Given the description of an element on the screen output the (x, y) to click on. 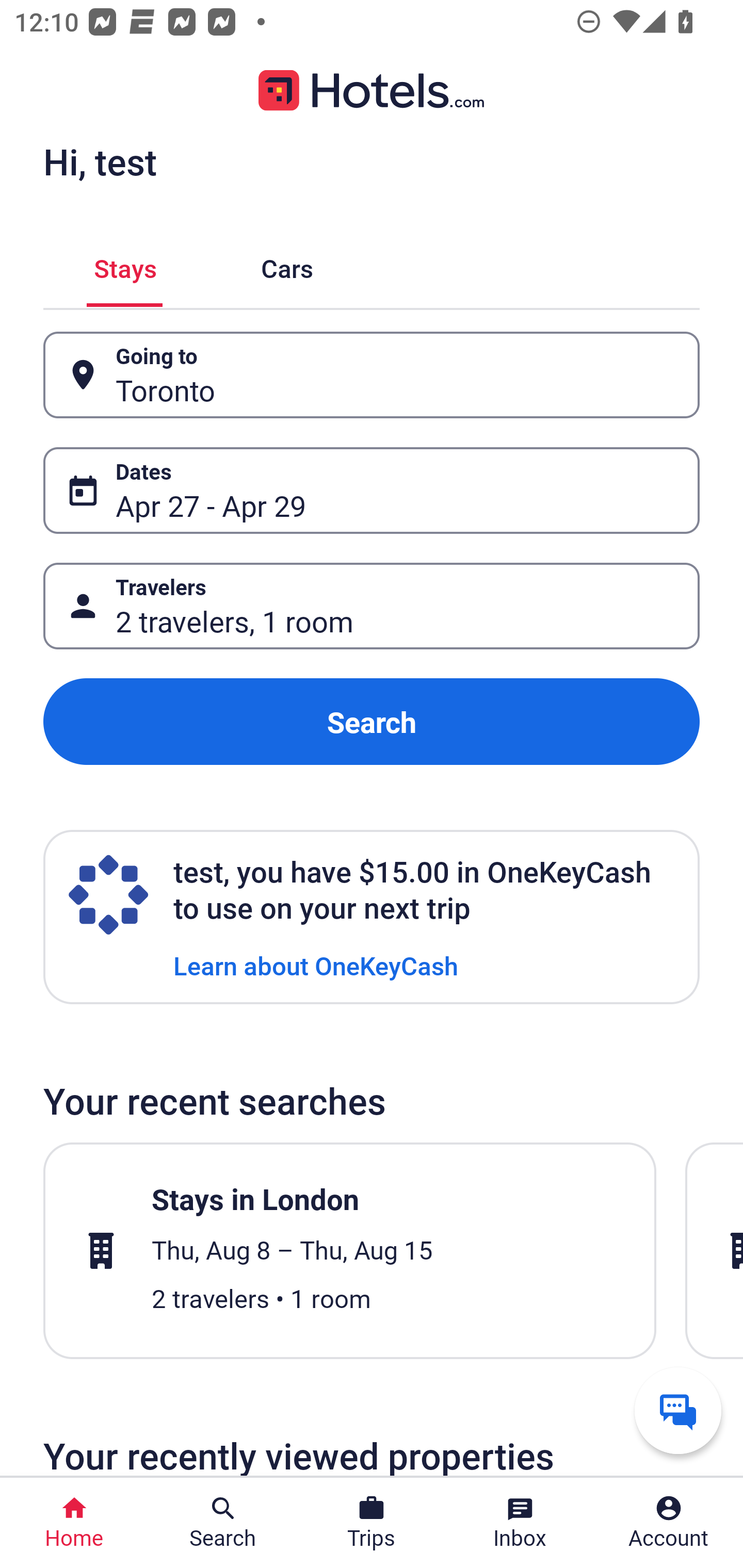
Hi, test (99, 161)
Cars (286, 265)
Going to Button Toronto (371, 375)
Dates Button Apr 27 - Apr 29 (371, 489)
Travelers Button 2 travelers, 1 room (371, 605)
Search (371, 721)
Learn about OneKeyCash Learn about OneKeyCash Link (315, 964)
Get help from a virtual agent (677, 1410)
Search Search Button (222, 1522)
Trips Trips Button (371, 1522)
Inbox Inbox Button (519, 1522)
Account Profile. Button (668, 1522)
